Given the description of an element on the screen output the (x, y) to click on. 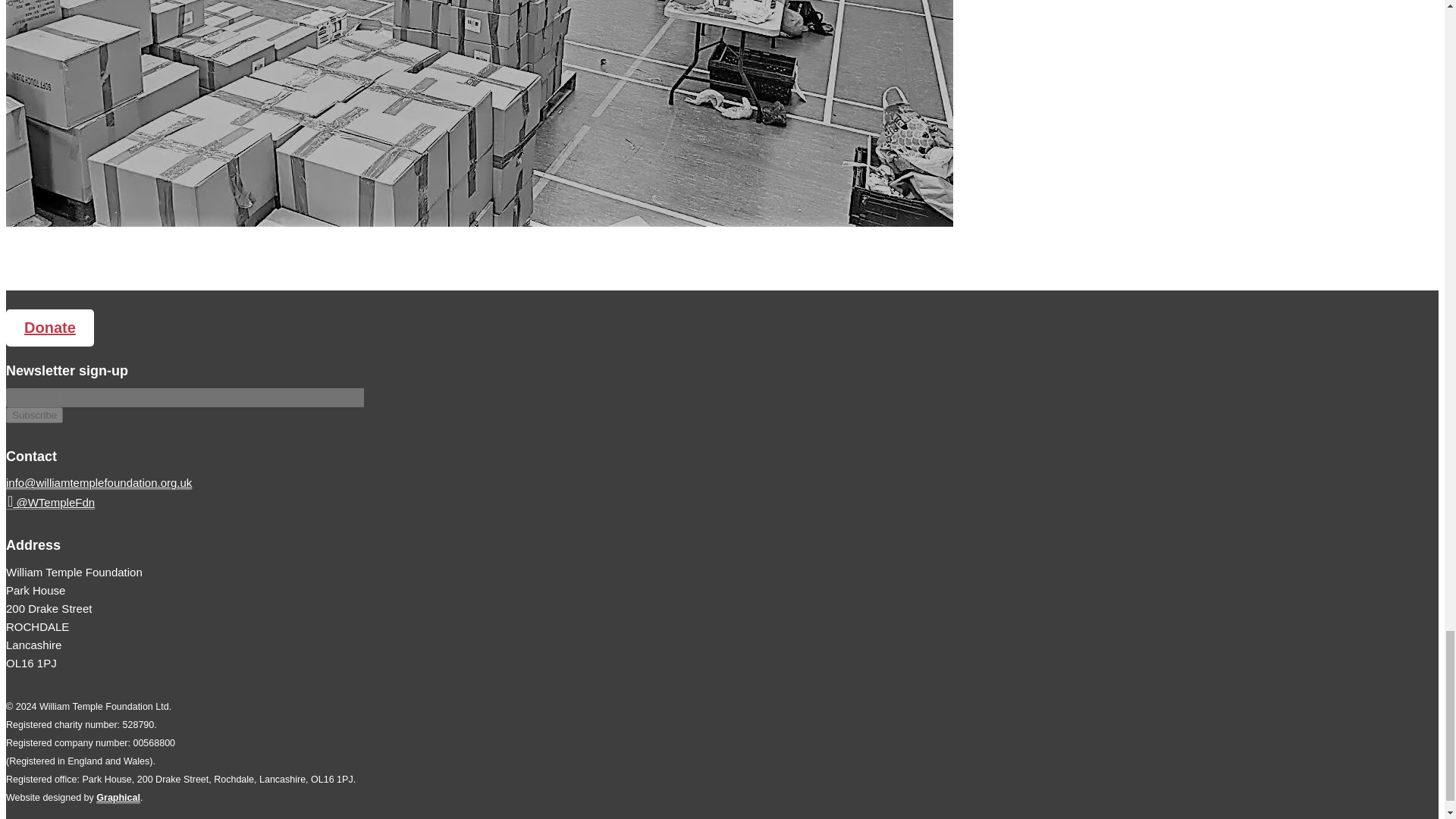
Subscribe (33, 415)
Graphical Agency (117, 797)
